Given the description of an element on the screen output the (x, y) to click on. 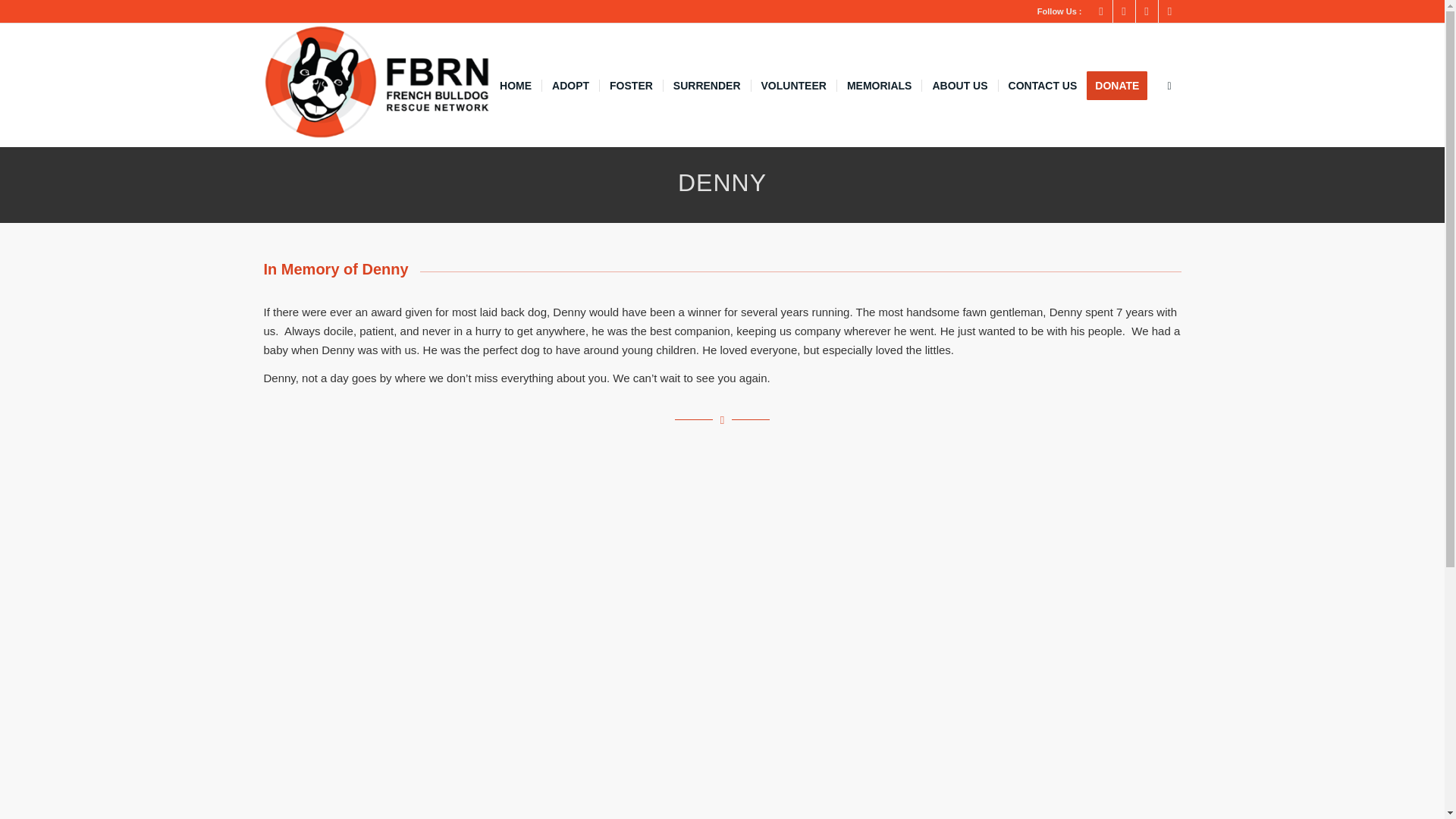
SURRENDER (706, 85)
FOSTER (630, 85)
VOLUNTEER (793, 85)
Twitter (1146, 11)
CONTACT US (1042, 85)
ABOUT US (959, 85)
HOME (515, 85)
Youtube (1169, 11)
DONATE (1121, 85)
Instagram (1124, 11)
MEMORIALS (878, 85)
ADOPT (569, 85)
Facebook (1101, 11)
